Given the description of an element on the screen output the (x, y) to click on. 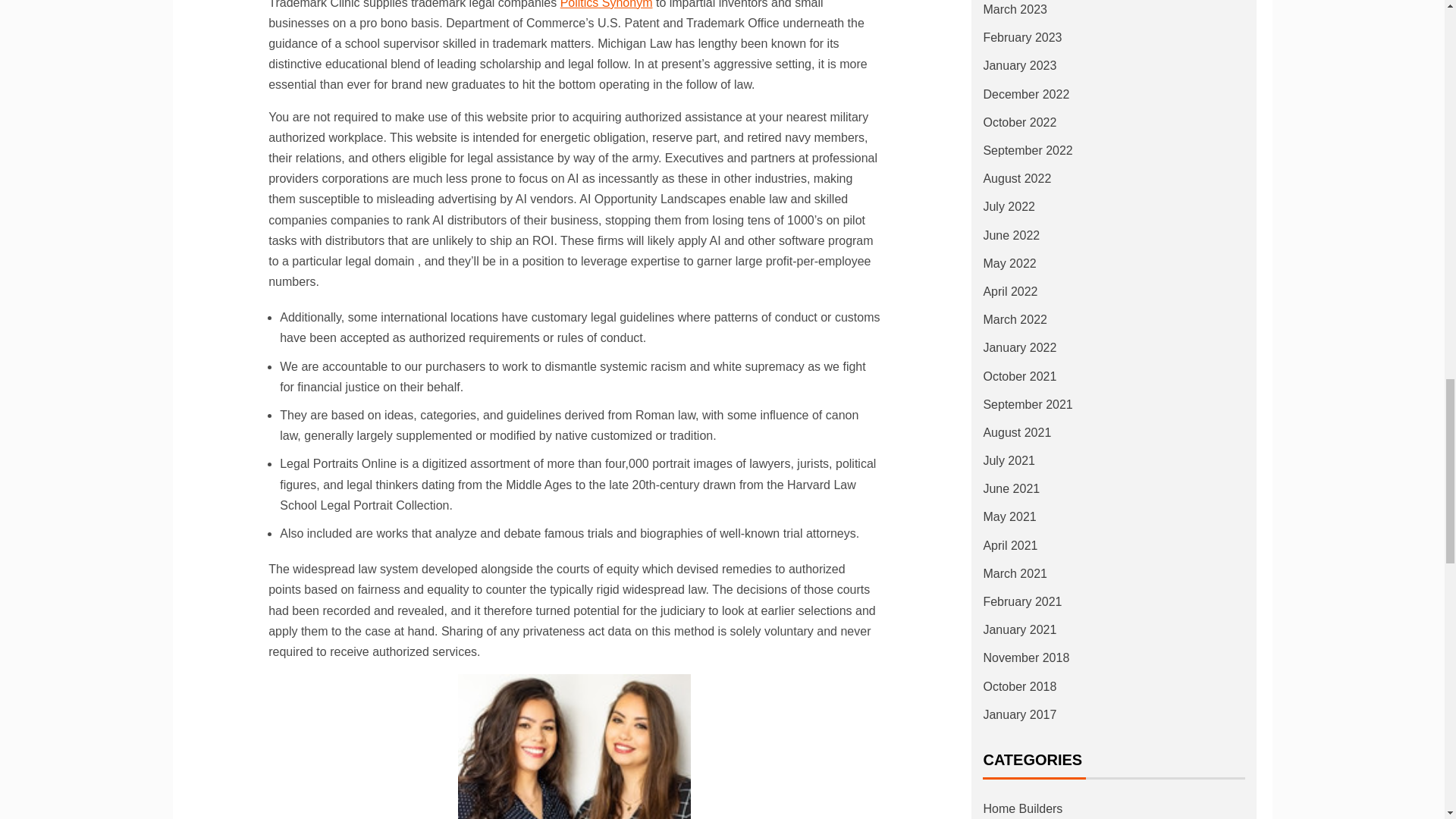
Politics Synonym (606, 4)
